Given the description of an element on the screen output the (x, y) to click on. 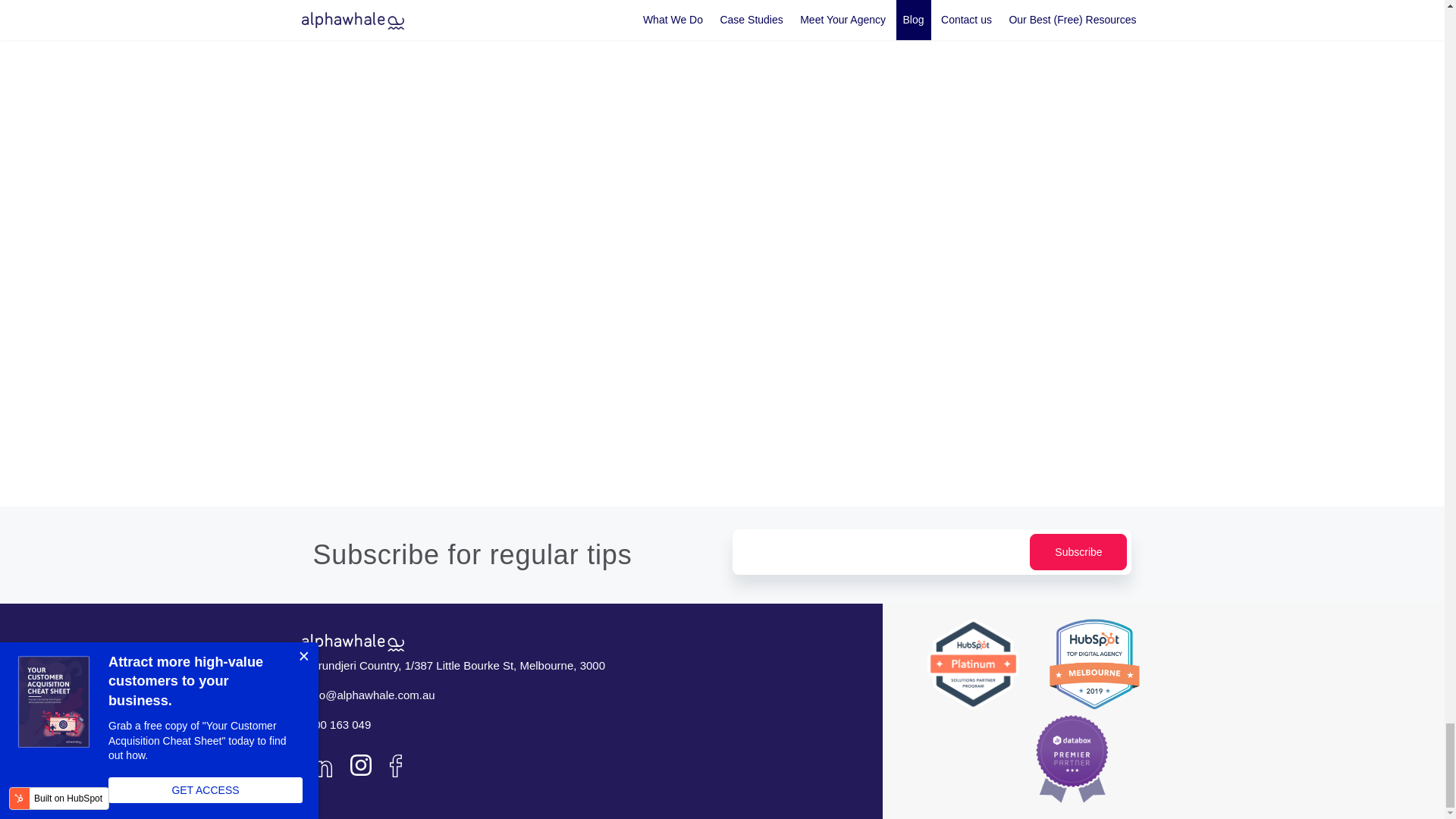
Subscribe (1077, 551)
alpha-white (352, 642)
